Given the description of an element on the screen output the (x, y) to click on. 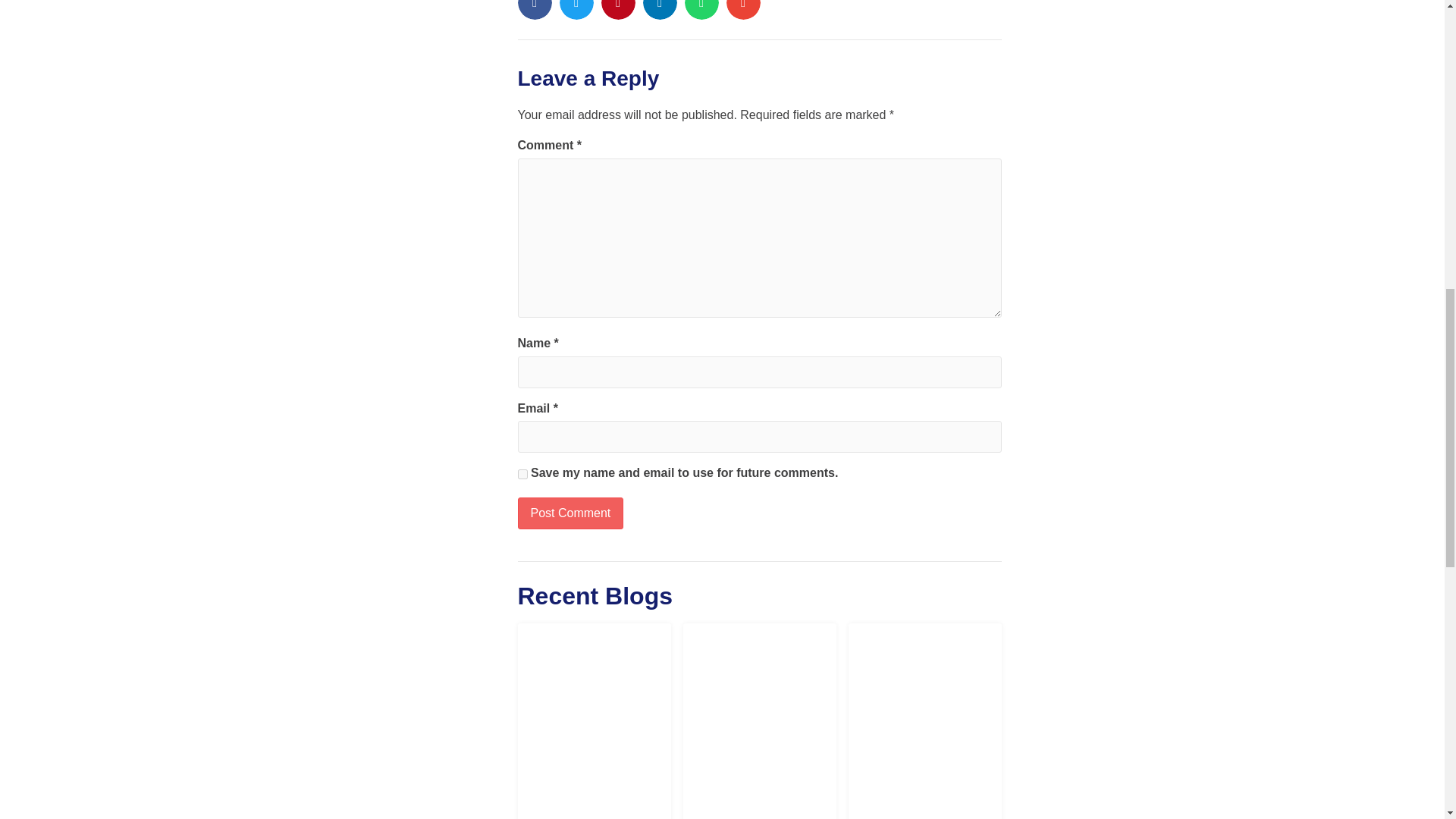
yes (521, 474)
Post Comment (569, 513)
